Given the description of an element on the screen output the (x, y) to click on. 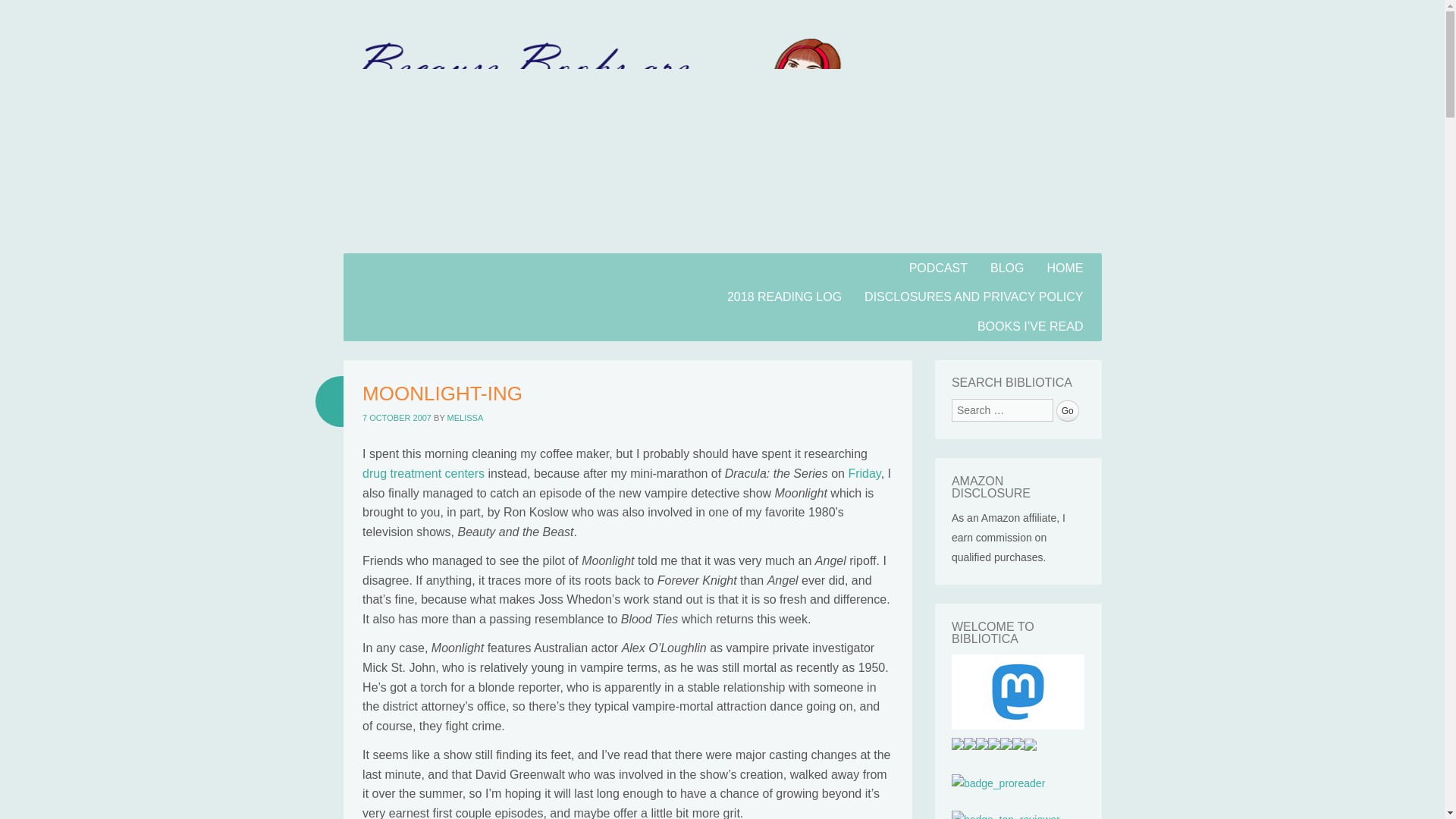
7 OCTOBER 2007 (396, 417)
BLOG (1006, 267)
Bibliotica (721, 243)
2018 READING LOG (784, 297)
DISCLOSURES AND PRIVACY POLICY (973, 297)
15:03 (396, 417)
MELISSA (464, 417)
Friday (863, 472)
drug treatment centers (423, 472)
HOME (1064, 267)
Bibliotica (430, 295)
Go (1067, 410)
Bibliotica (430, 295)
Skip to content (382, 262)
Skip to content (382, 262)
